Given the description of an element on the screen output the (x, y) to click on. 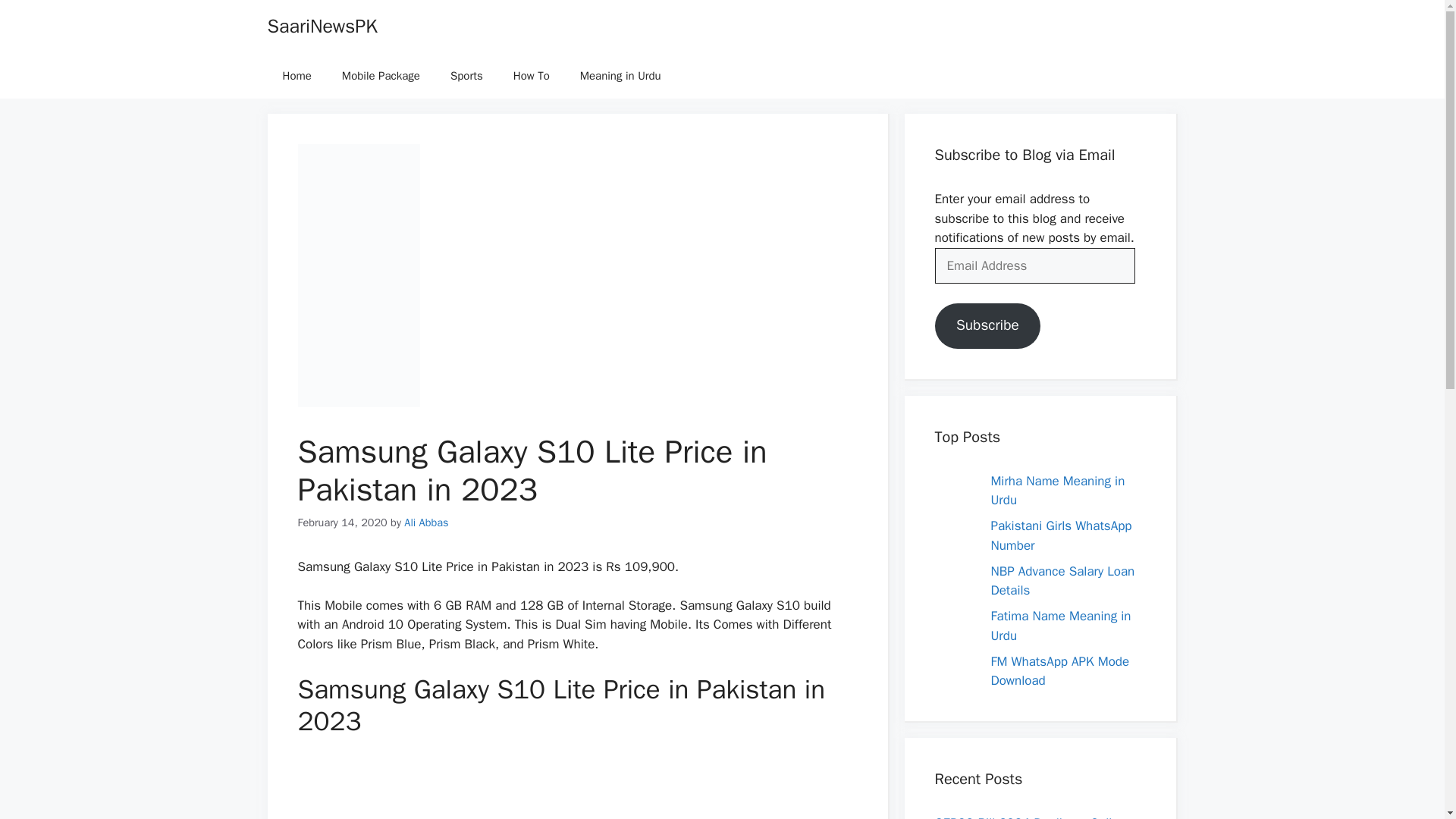
Pakistani Girls WhatsApp Number (1060, 535)
Fatima Name Meaning in Urdu (1060, 625)
NBP Advance Salary Loan Details (1062, 580)
Mirha Name Meaning in Urdu (1057, 490)
Ali Abbas (426, 522)
Meaning in Urdu (620, 75)
Pakistani Girls WhatsApp Number (1060, 535)
Mobile Package (380, 75)
FM WhatsApp APK Mode Download (1059, 671)
GEPCO Bill 2024 Duplicate Online Free Download (1029, 816)
Sports (466, 75)
Mirha Name Meaning in Urdu (1057, 490)
How To (530, 75)
NBP Advance Salary Loan Details (1062, 580)
Fatima Name Meaning in Urdu (1060, 625)
